Given the description of an element on the screen output the (x, y) to click on. 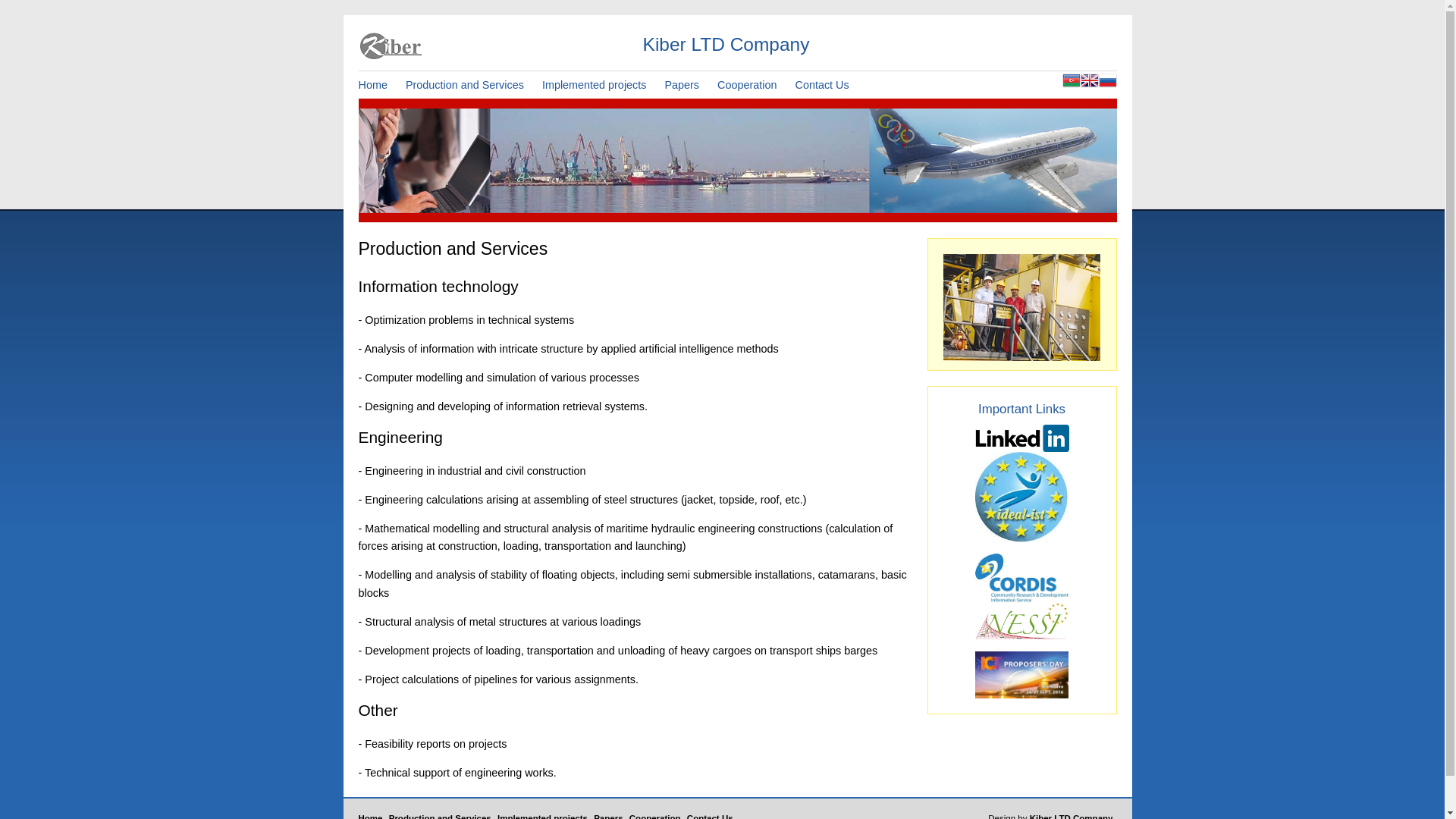
Contact Us Element type: text (828, 84)
Papers Element type: text (689, 84)
Production and Services Element type: text (472, 84)
Implemented projects Element type: text (602, 84)
Home Element type: text (379, 84)
Cooperation Element type: text (754, 84)
